Given the description of an element on the screen output the (x, y) to click on. 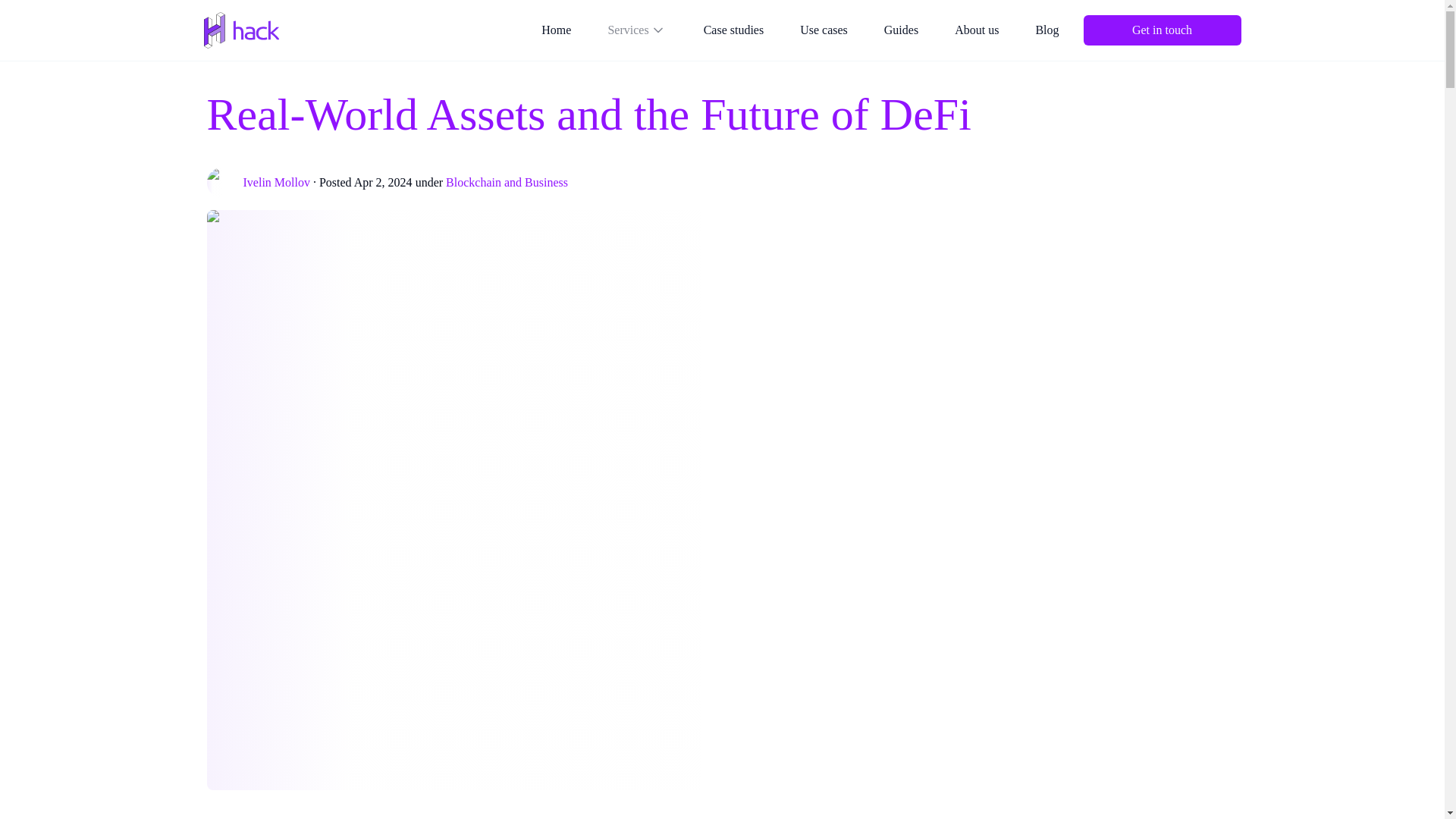
Services (636, 30)
Ivelin Mollov (275, 182)
About us (976, 30)
Blog (1046, 30)
Guides (901, 30)
Use cases (823, 30)
Case studies (733, 30)
Home (556, 30)
Get in touch (1161, 30)
Blockchain and Business (506, 182)
hack (241, 30)
